Given the description of an element on the screen output the (x, y) to click on. 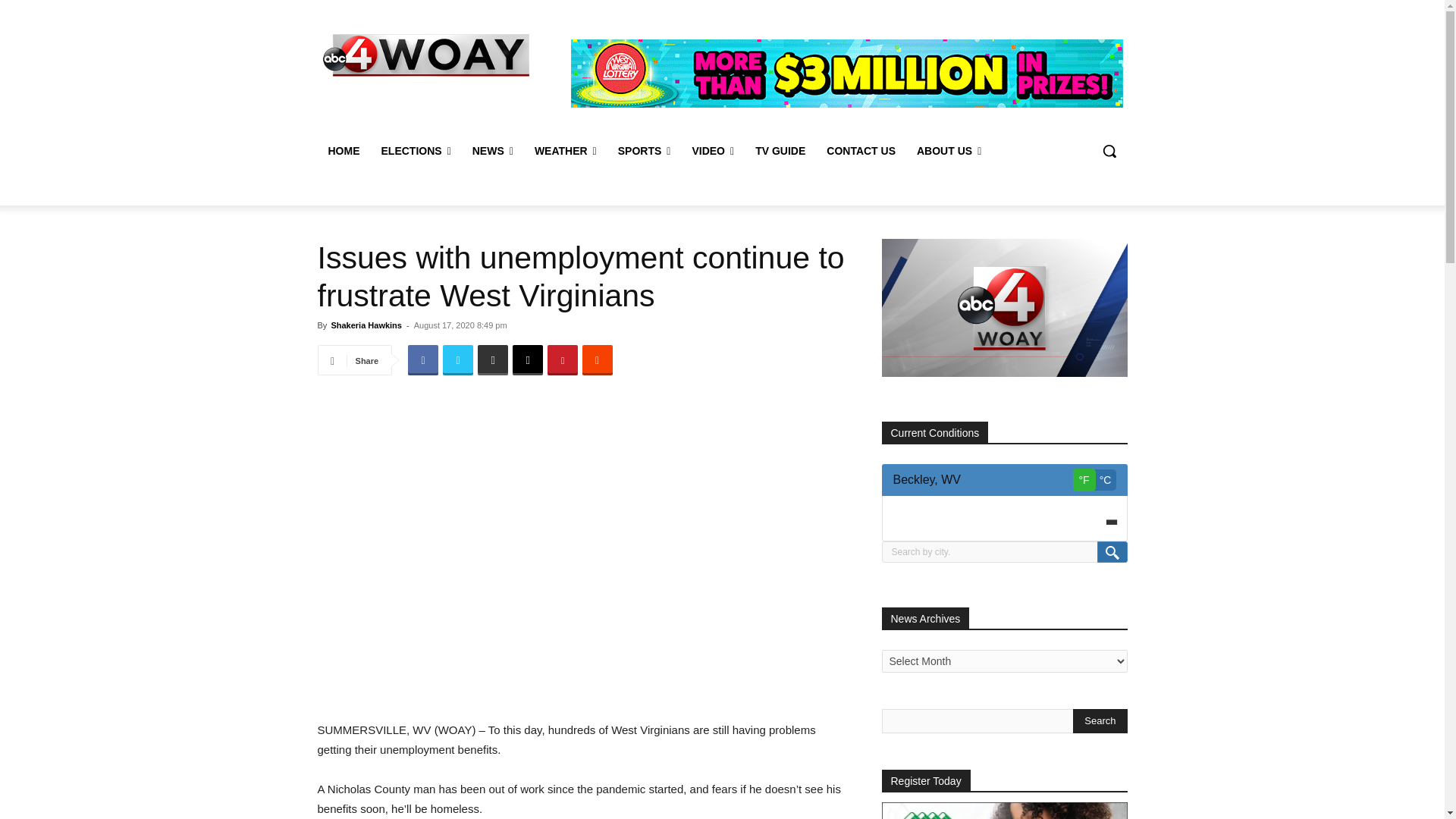
Print (492, 359)
Facebook (422, 359)
Pinterest (562, 359)
WOAY News (426, 55)
Twitter (457, 359)
WOAY News (425, 55)
Email (527, 359)
Search (1099, 721)
ReddIt (597, 359)
